Given the description of an element on the screen output the (x, y) to click on. 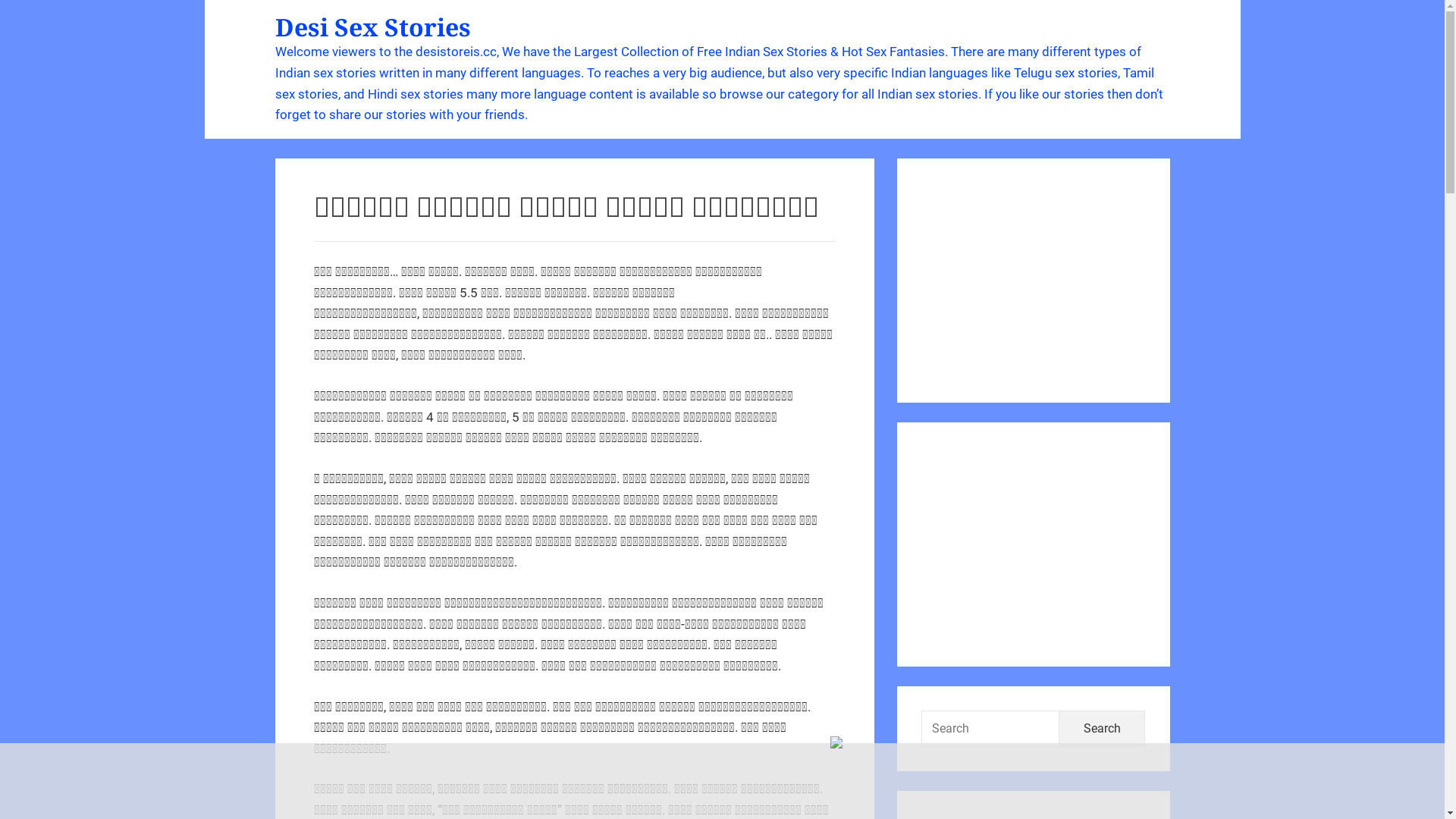
Search for: Element type: hover (990, 728)
Desi Sex Stories Element type: text (372, 26)
Search Element type: text (1102, 728)
